Given the description of an element on the screen output the (x, y) to click on. 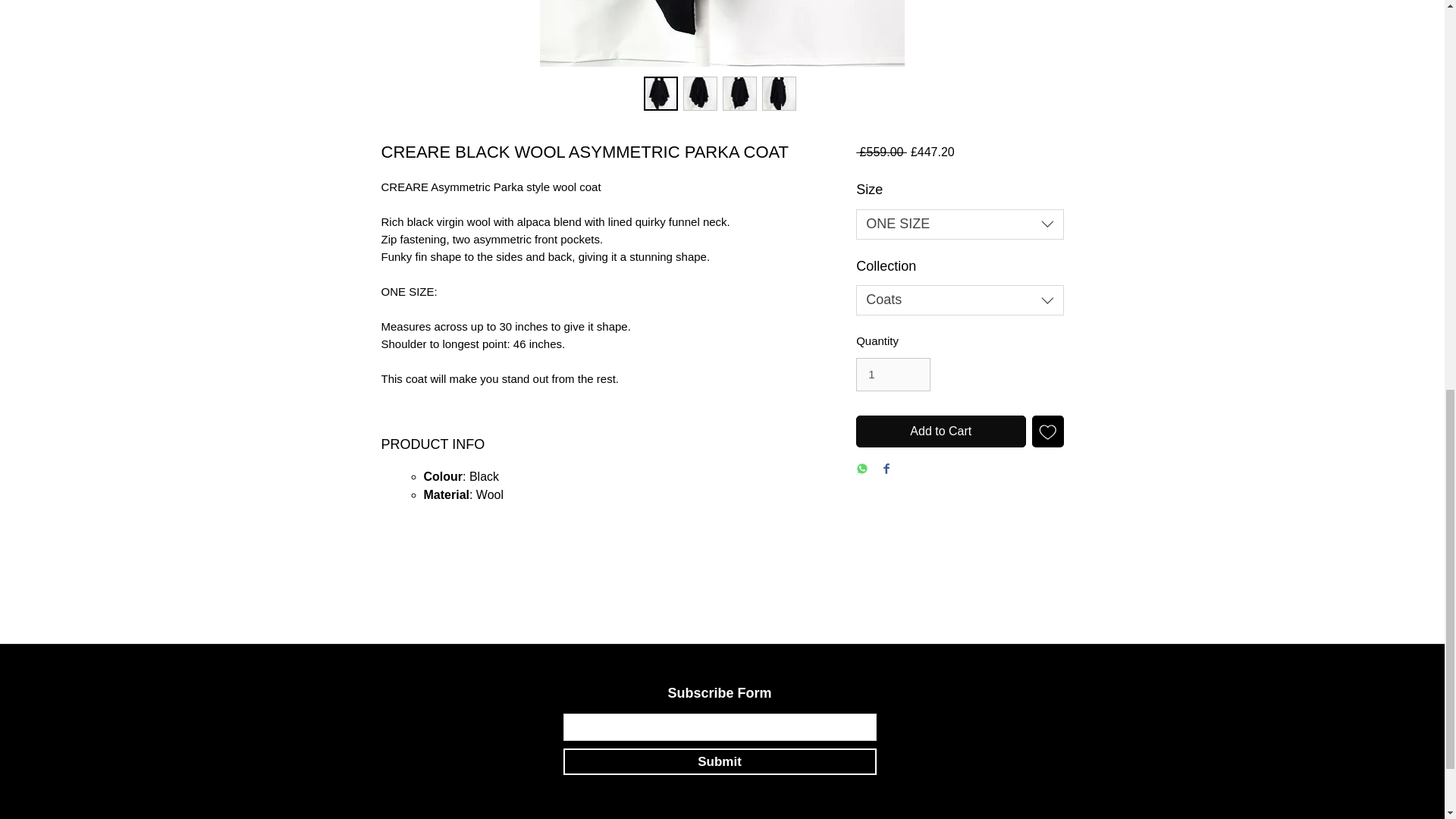
1 (893, 374)
